Given the description of an element on the screen output the (x, y) to click on. 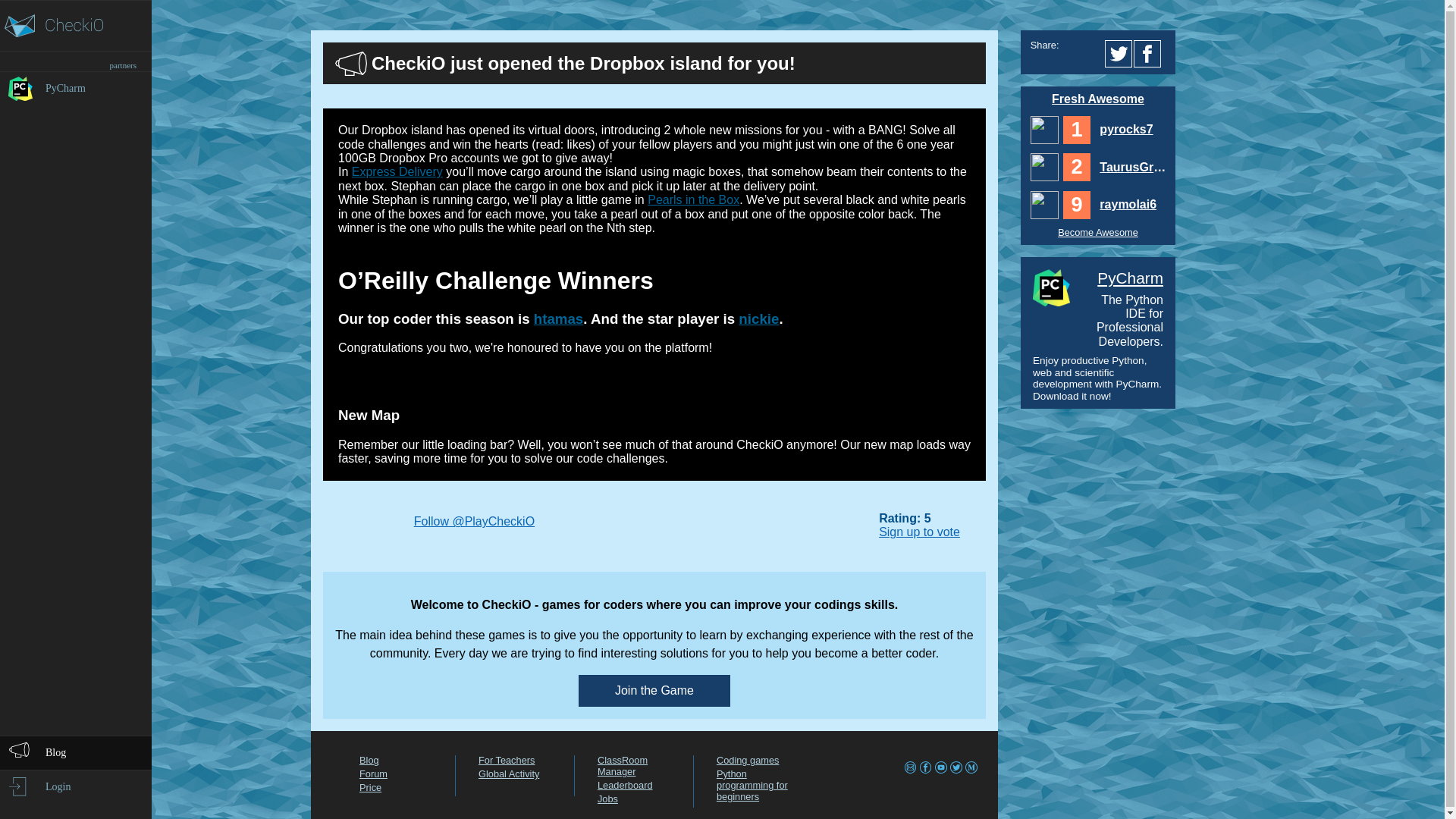
Twitter (1119, 53)
Pearls in the Box (693, 199)
TaurusGrey (1131, 167)
Forum (373, 773)
nickie (758, 318)
partners (75, 60)
ClassRoom Manager (621, 765)
For Teachers (506, 759)
Login (75, 786)
Blog (368, 759)
Facebook (1150, 53)
Python programming for beginners (751, 784)
Price (370, 787)
raymolai6 (1044, 204)
Join the Game (654, 690)
